Given the description of an element on the screen output the (x, y) to click on. 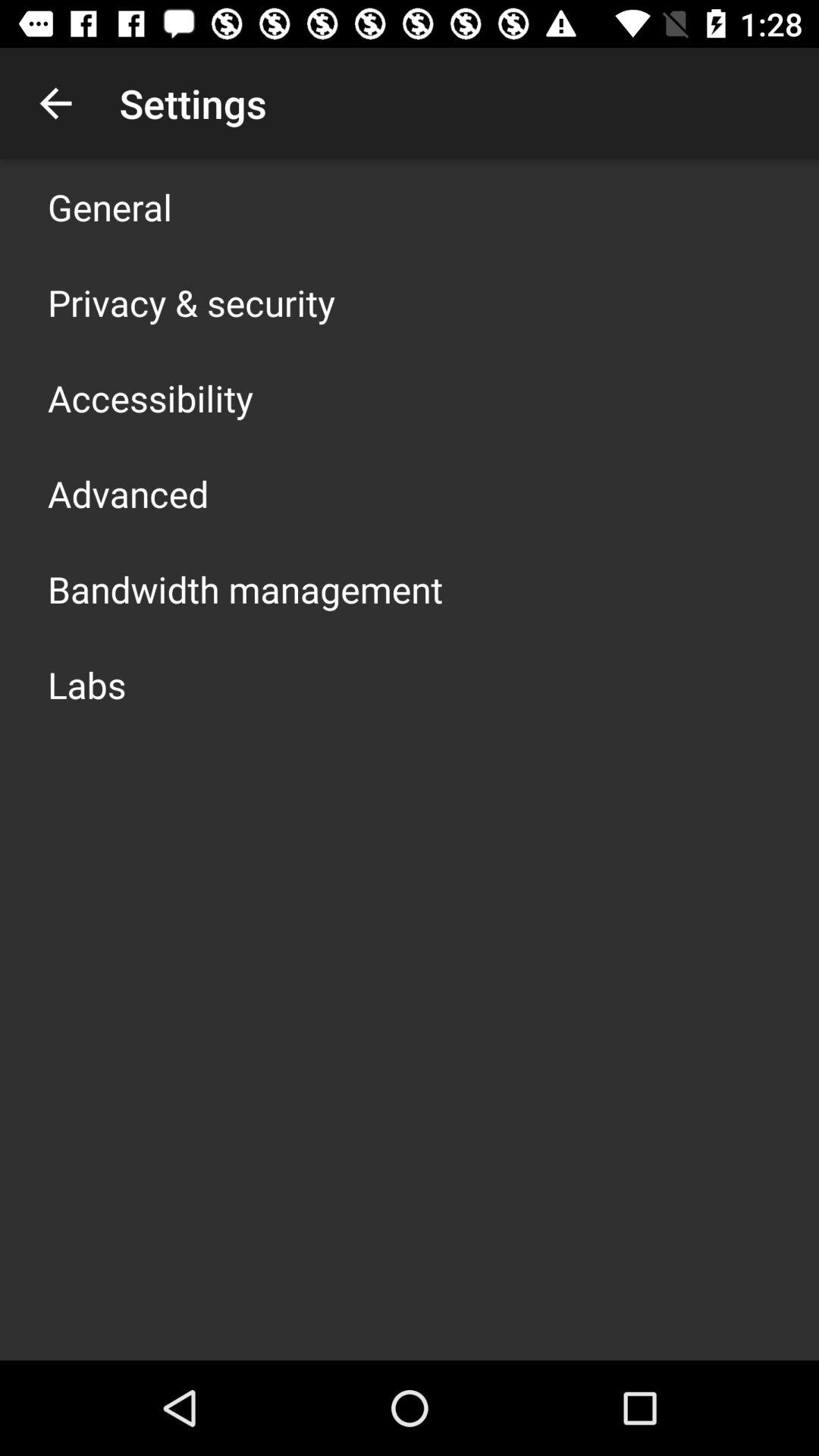
flip to the bandwidth management icon (245, 588)
